Given the description of an element on the screen output the (x, y) to click on. 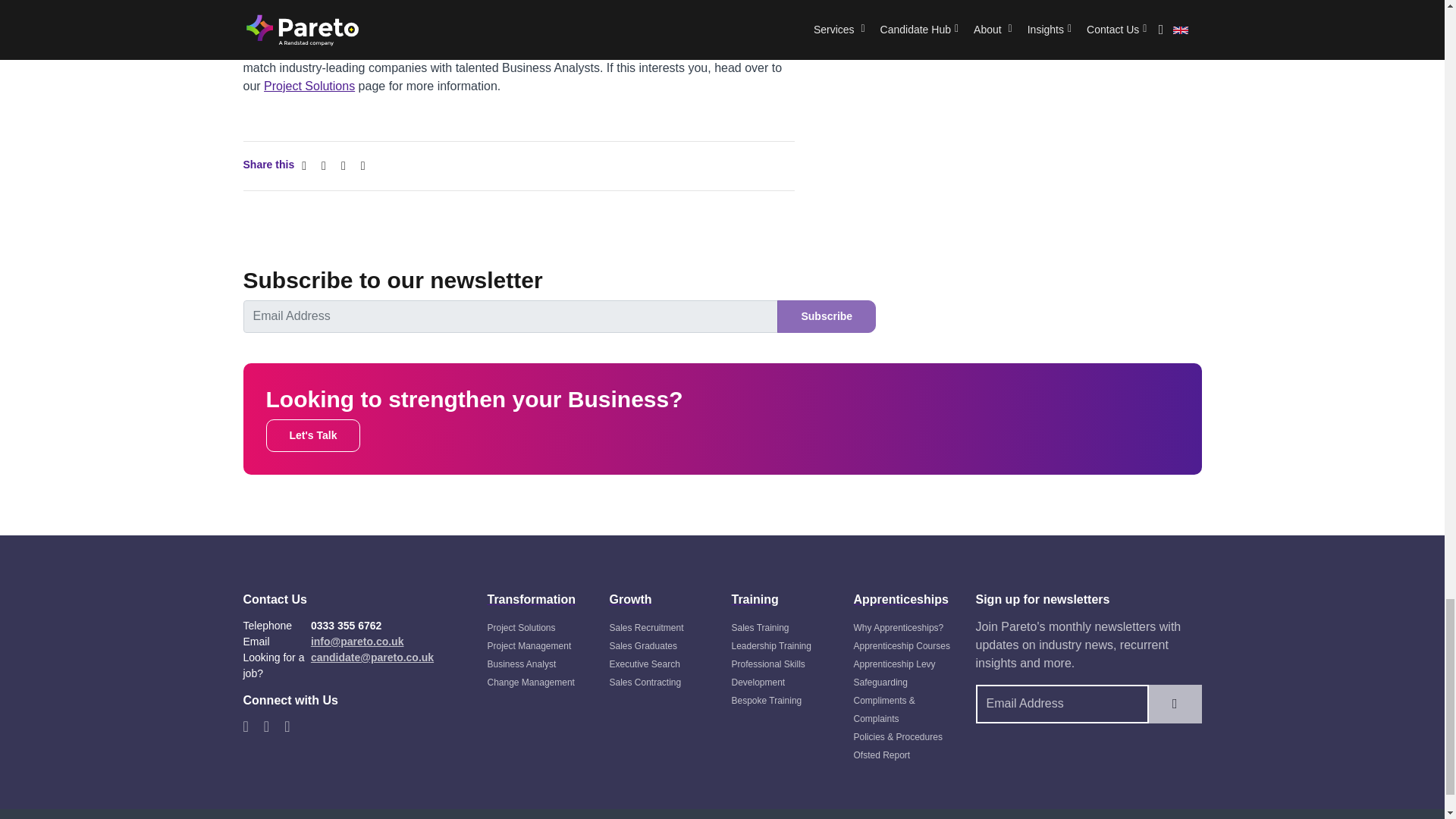
Subscribe (826, 316)
